Given the description of an element on the screen output the (x, y) to click on. 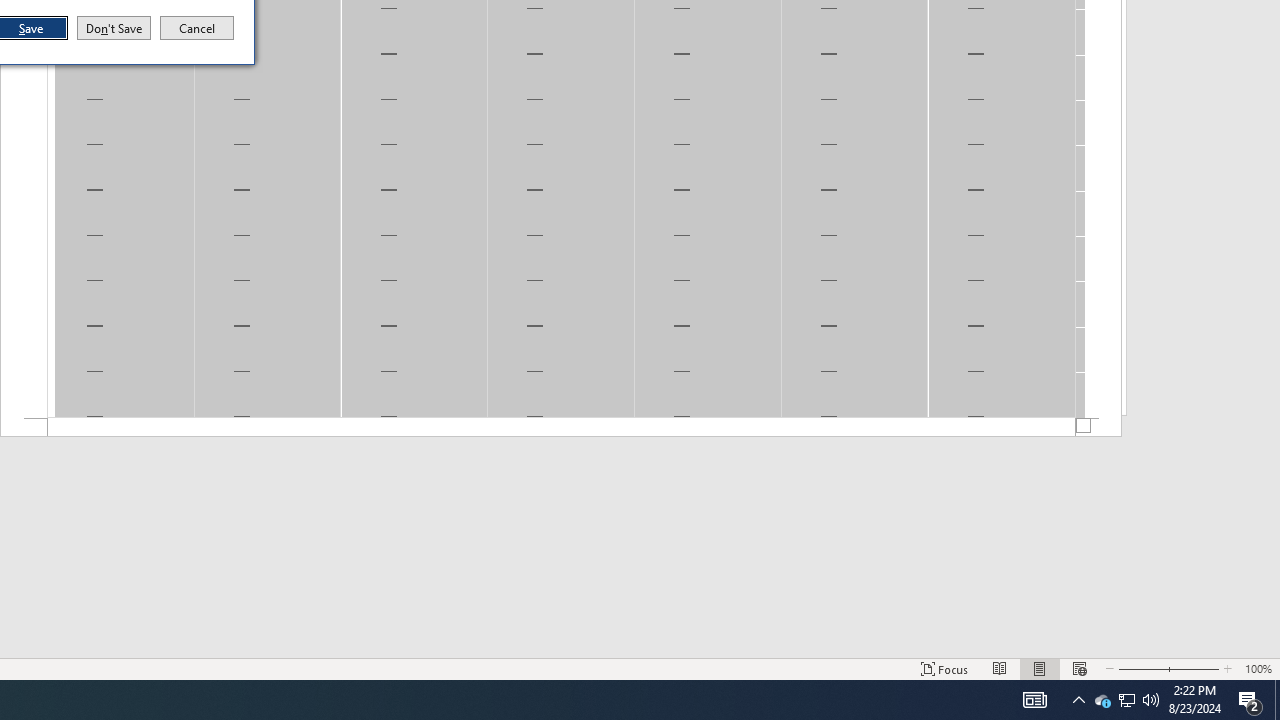
Q2790: 100% (1151, 699)
Don't Save (113, 27)
User Promoted Notification Area (1102, 699)
